Given the description of an element on the screen output the (x, y) to click on. 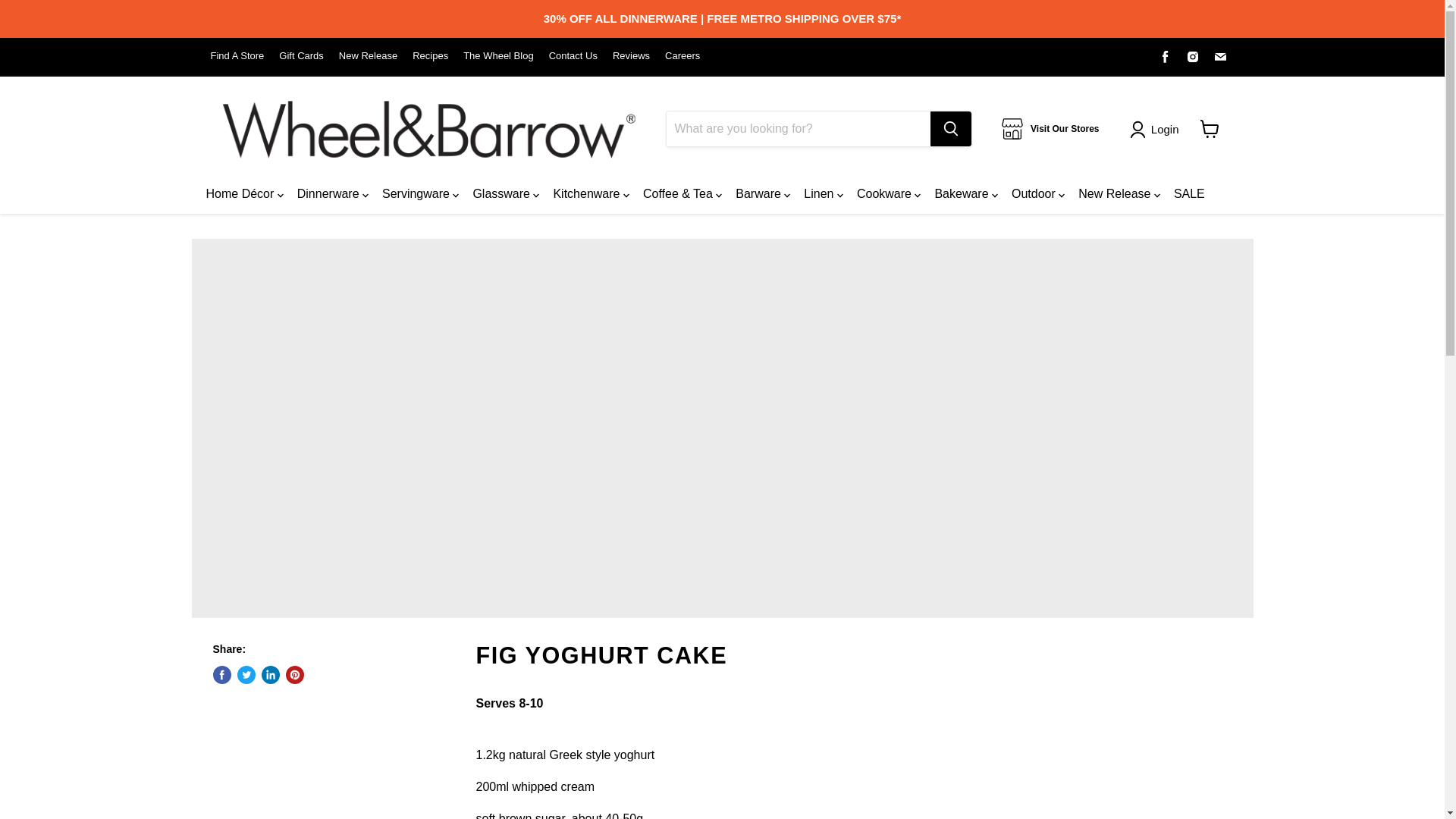
The Wheel Blog (498, 56)
Facebook (1165, 55)
Login (1164, 128)
Find A Store (237, 56)
New Release (368, 56)
Careers (682, 56)
Find us on Email (1219, 55)
Gift Cards (301, 56)
Find us on Facebook (1165, 55)
Reviews (630, 56)
Contact Us (572, 56)
Find us on Instagram (1193, 55)
Instagram (1193, 55)
Email (1219, 55)
View cart (1208, 128)
